Given the description of an element on the screen output the (x, y) to click on. 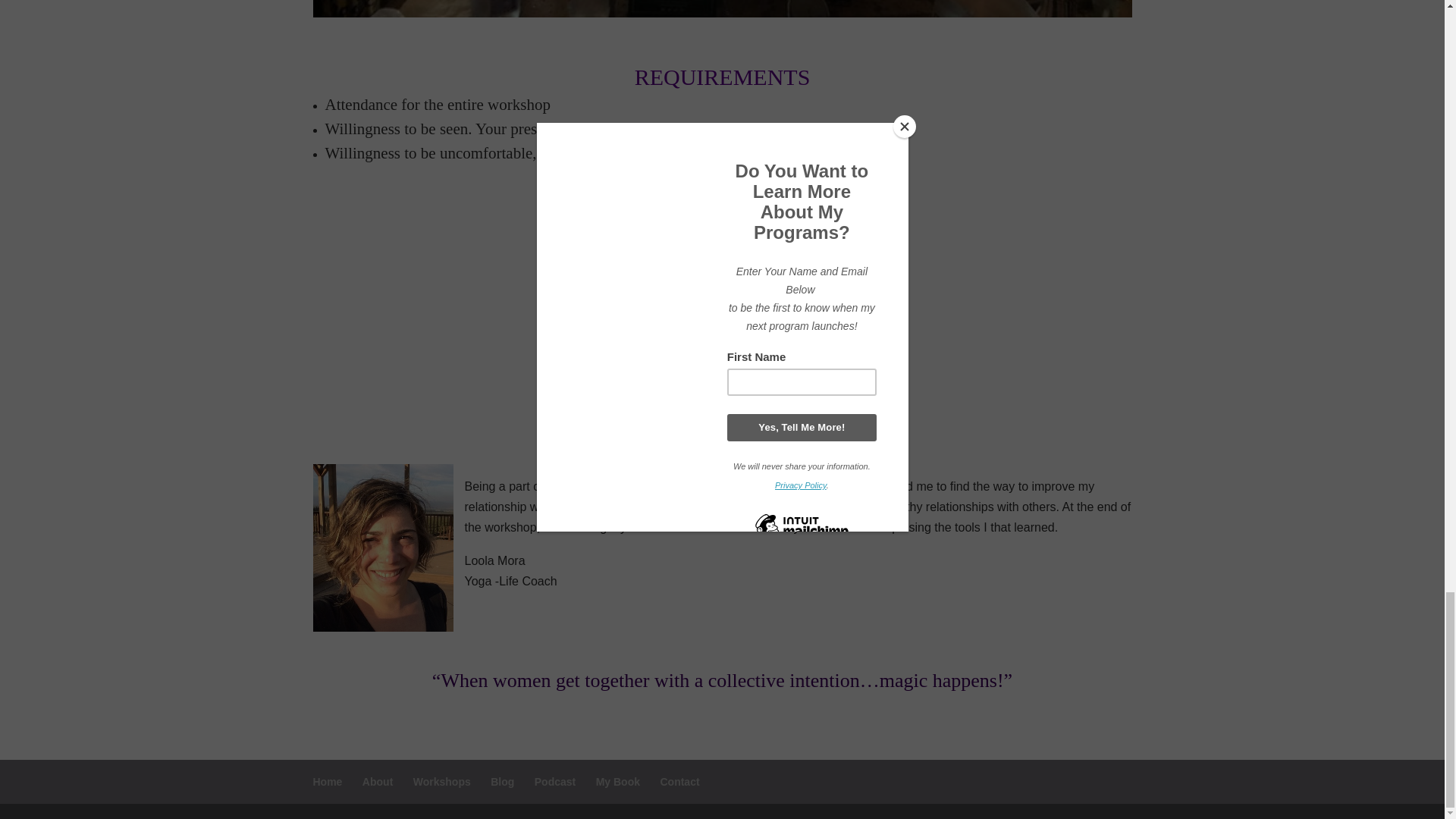
Home (327, 781)
2018-06-10-PHOTO-00000007-5 (722, 12)
About (377, 781)
Workshops (441, 781)
REGISTER NOW (721, 358)
